Given the description of an element on the screen output the (x, y) to click on. 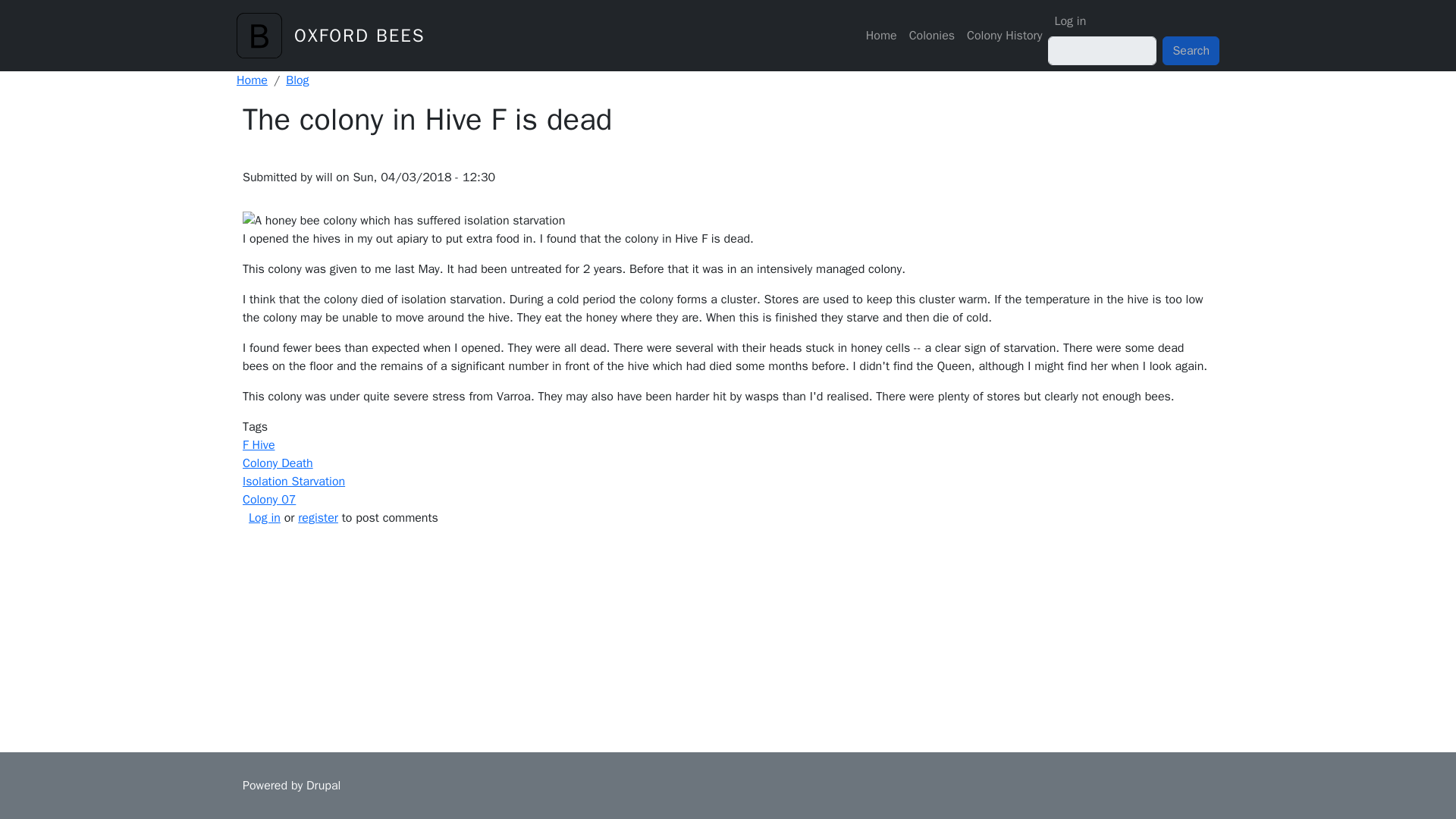
Home (264, 35)
Colony History (1004, 35)
Enter the terms you wish to search for. (1102, 50)
Home (359, 35)
OXFORD BEES (359, 35)
Search (1190, 50)
Colony 07 (269, 499)
Colonies (931, 35)
Home (881, 35)
Isolation Starvation (294, 481)
